Given the description of an element on the screen output the (x, y) to click on. 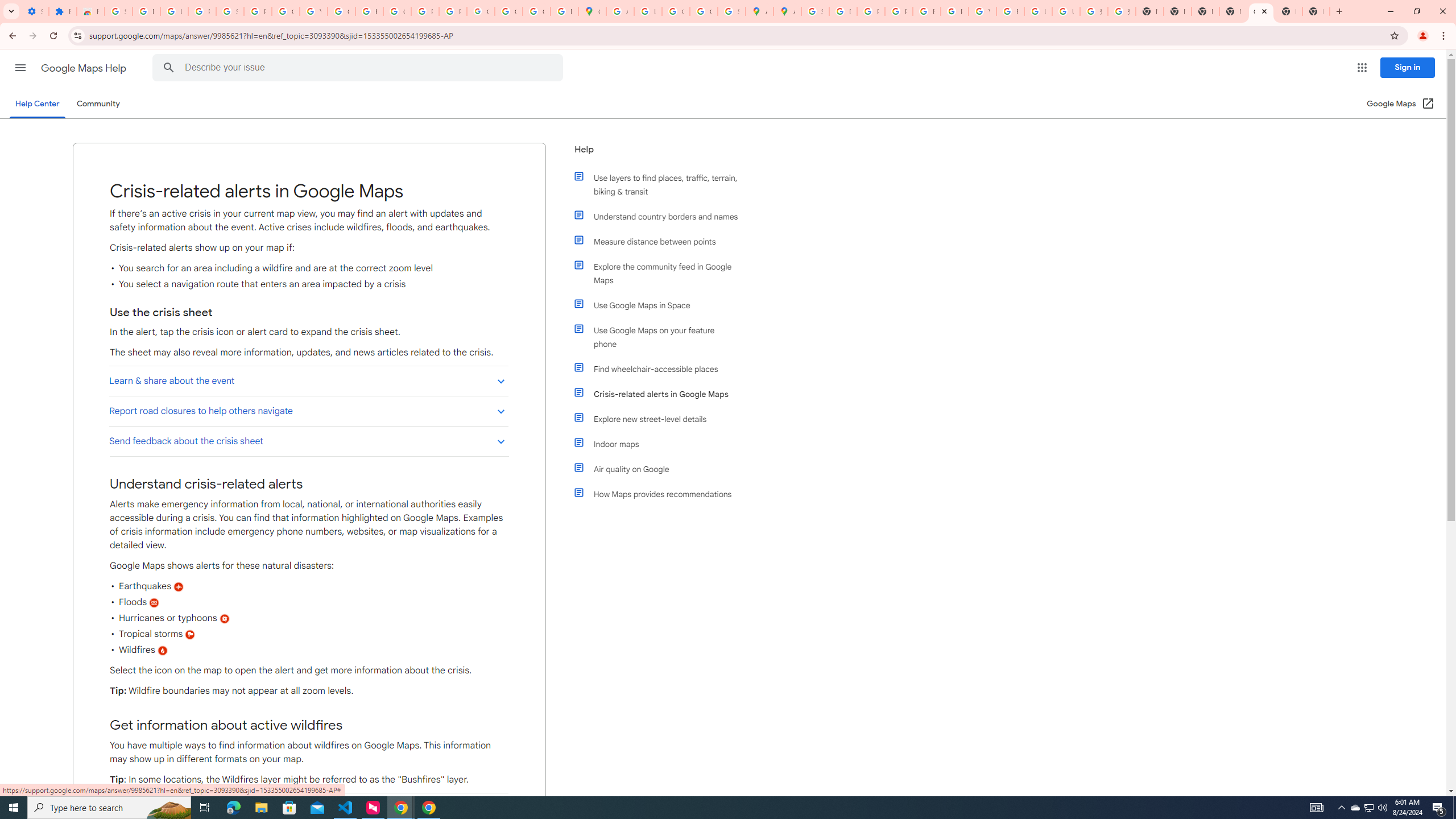
Air quality on Google (661, 469)
Search Help Center (168, 67)
https://scholar.google.com/ (369, 11)
Safety in Our Products - Google Safety Center (731, 11)
New Tab (1233, 11)
